Given the description of an element on the screen output the (x, y) to click on. 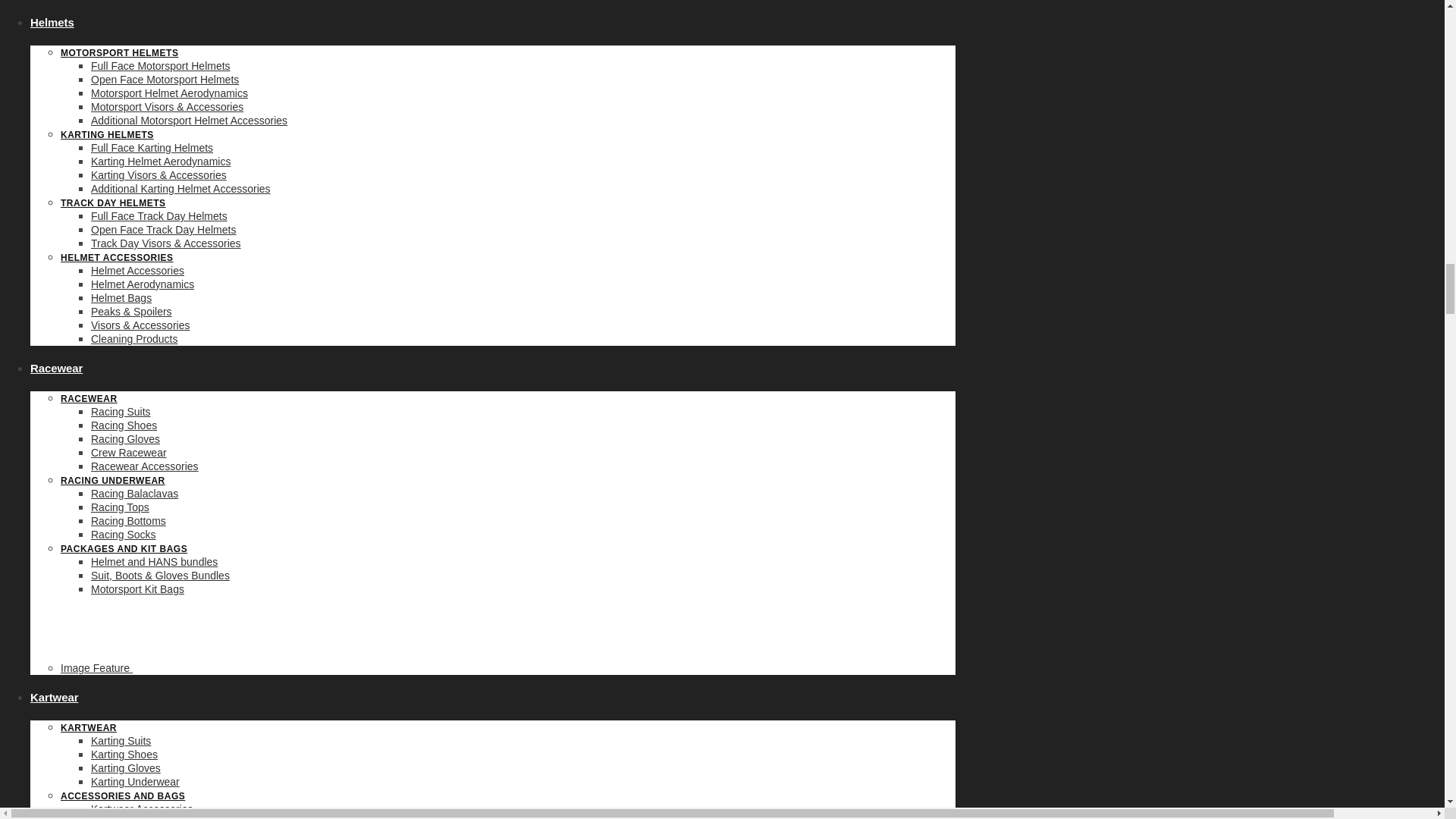
Helmet Bags (120, 297)
Full Face Karting Helmets (151, 147)
Open Face Motorsport Helmets (164, 79)
Additional Karting Helmet Accessories (180, 188)
TRACK DAY HELMETS (113, 203)
HELMET ACCESSORIES (117, 257)
Karting Helmet Aerodynamics (160, 161)
Helmet Accessories (137, 270)
Open Face Track Day Helmets (162, 229)
Full Face Motorsport Helmets (160, 65)
KARTING HELMETS (107, 134)
Full Face Track Day Helmets (158, 215)
Cleaning Products (133, 338)
Helmets (52, 21)
MOTORSPORT HELMETS (119, 52)
